Given the description of an element on the screen output the (x, y) to click on. 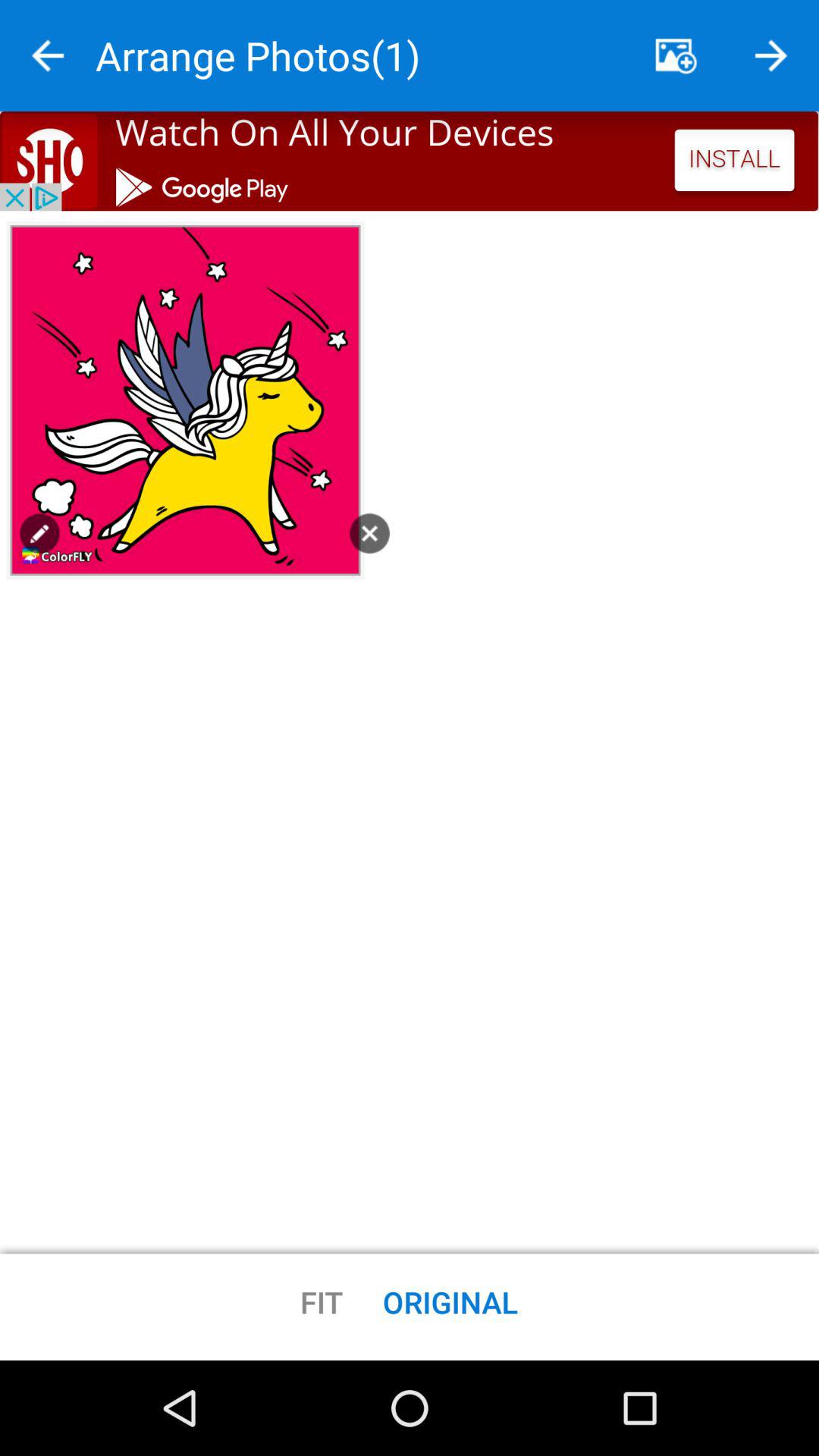
go to back (47, 55)
